Given the description of an element on the screen output the (x, y) to click on. 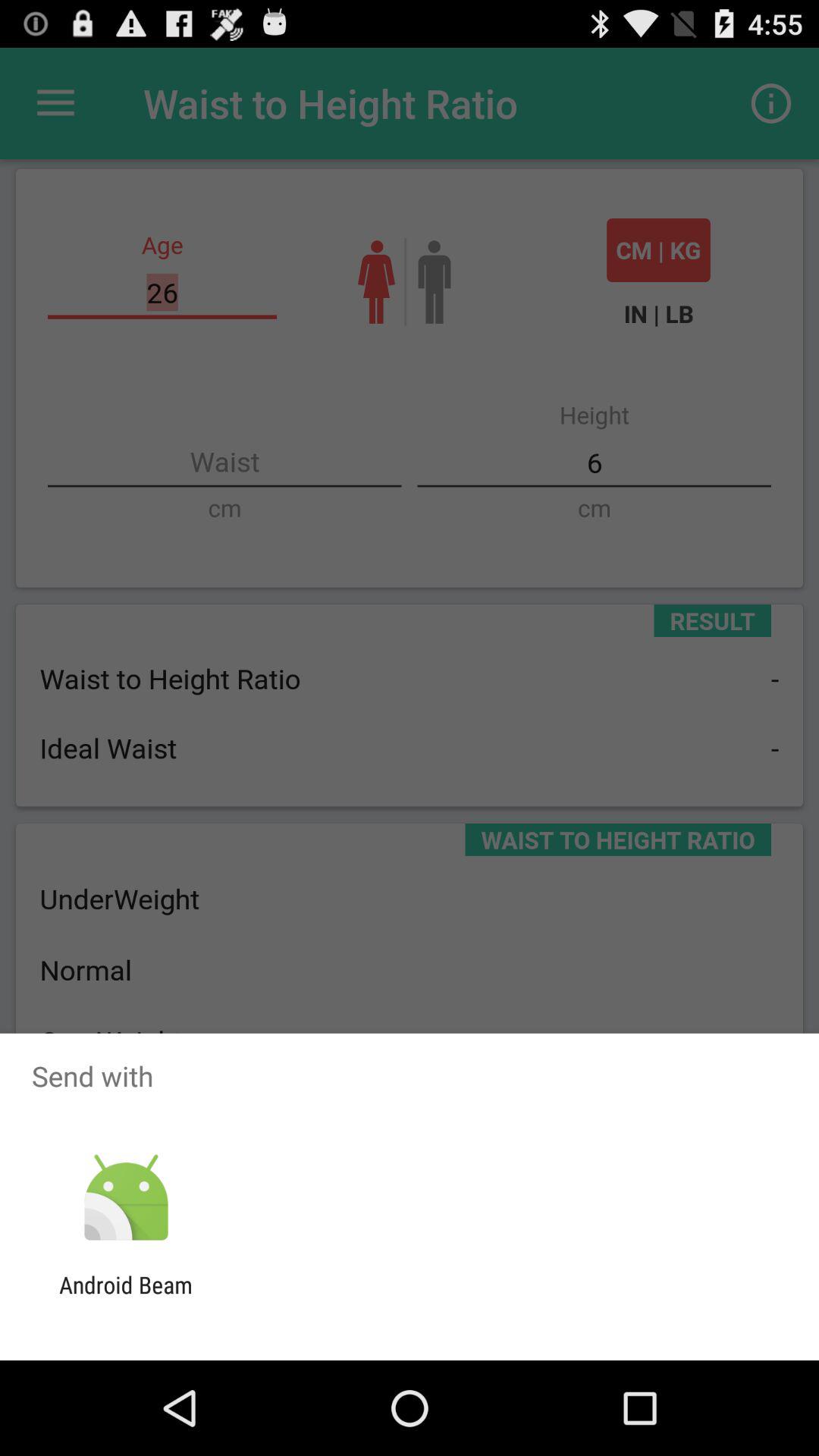
jump until android beam app (125, 1298)
